Given the description of an element on the screen output the (x, y) to click on. 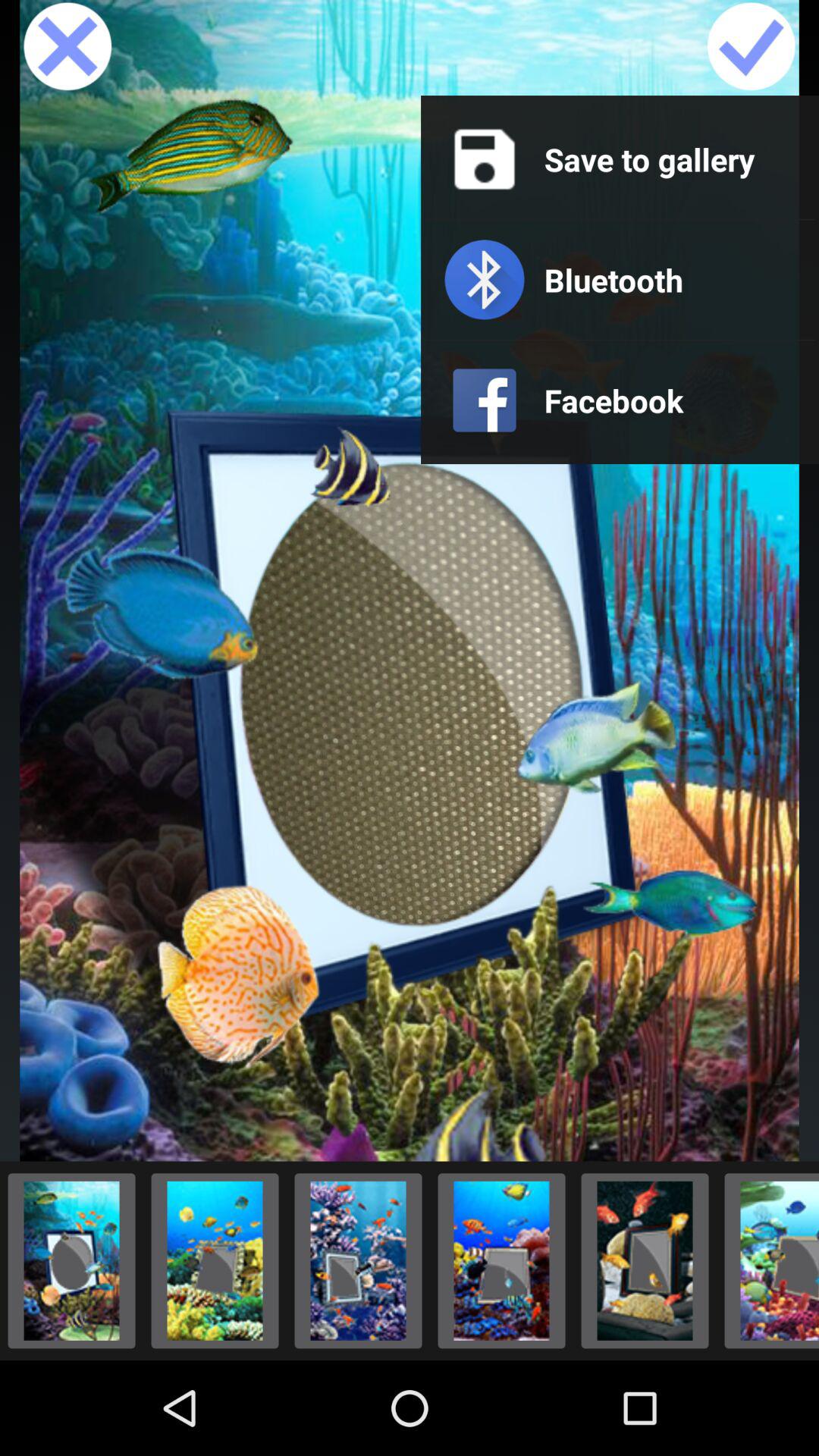
choose wallpaper (644, 1260)
